Given the description of an element on the screen output the (x, y) to click on. 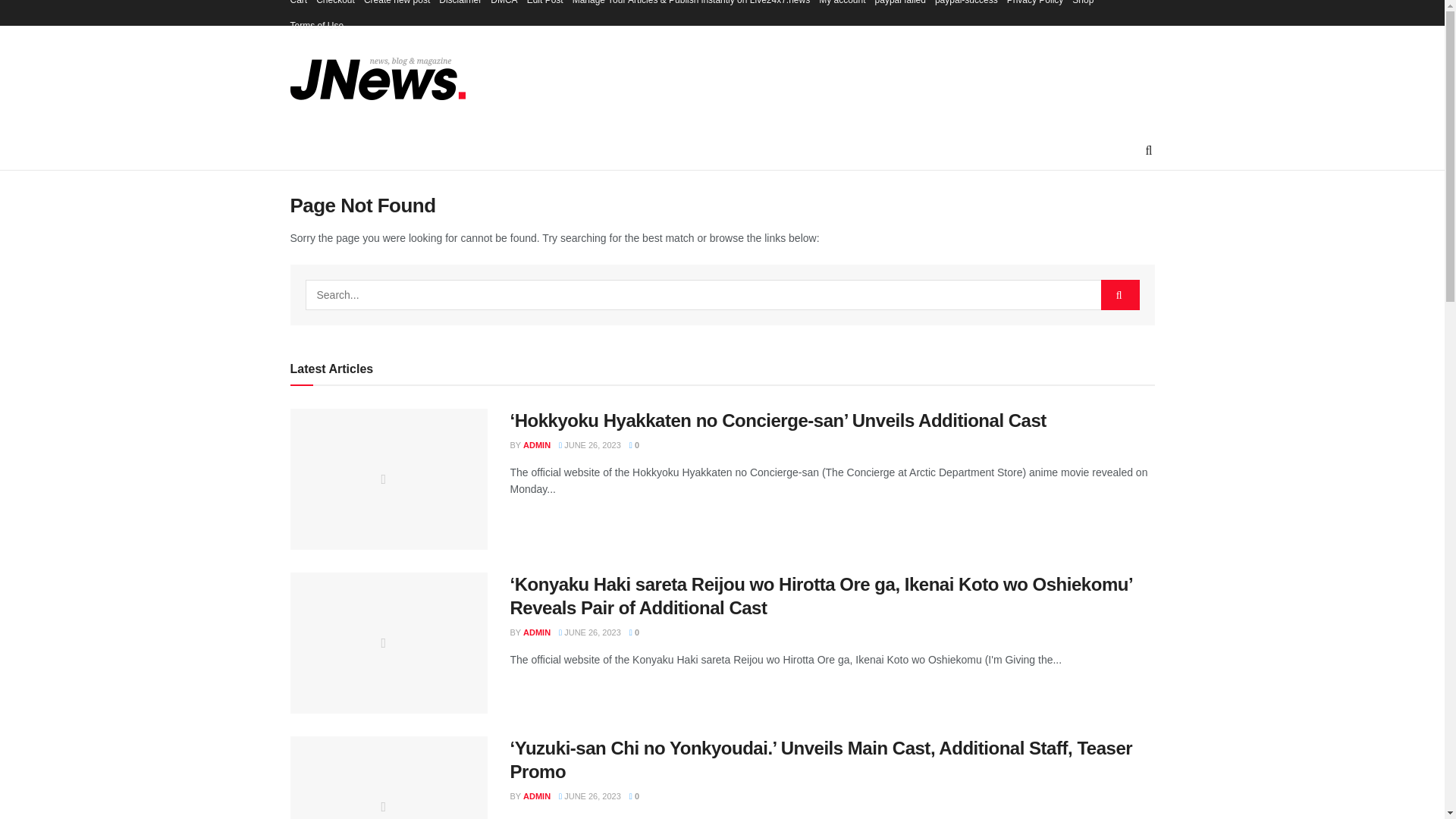
Disclaimer (460, 6)
Create new post (396, 6)
Edit Post (545, 6)
paypal failed (900, 6)
My account (841, 6)
paypal-success (965, 6)
Shop (1082, 6)
Checkout (335, 6)
Cart (298, 6)
DMCA (503, 6)
Privacy Policy (1035, 6)
Terms of Use (316, 25)
